Given the description of an element on the screen output the (x, y) to click on. 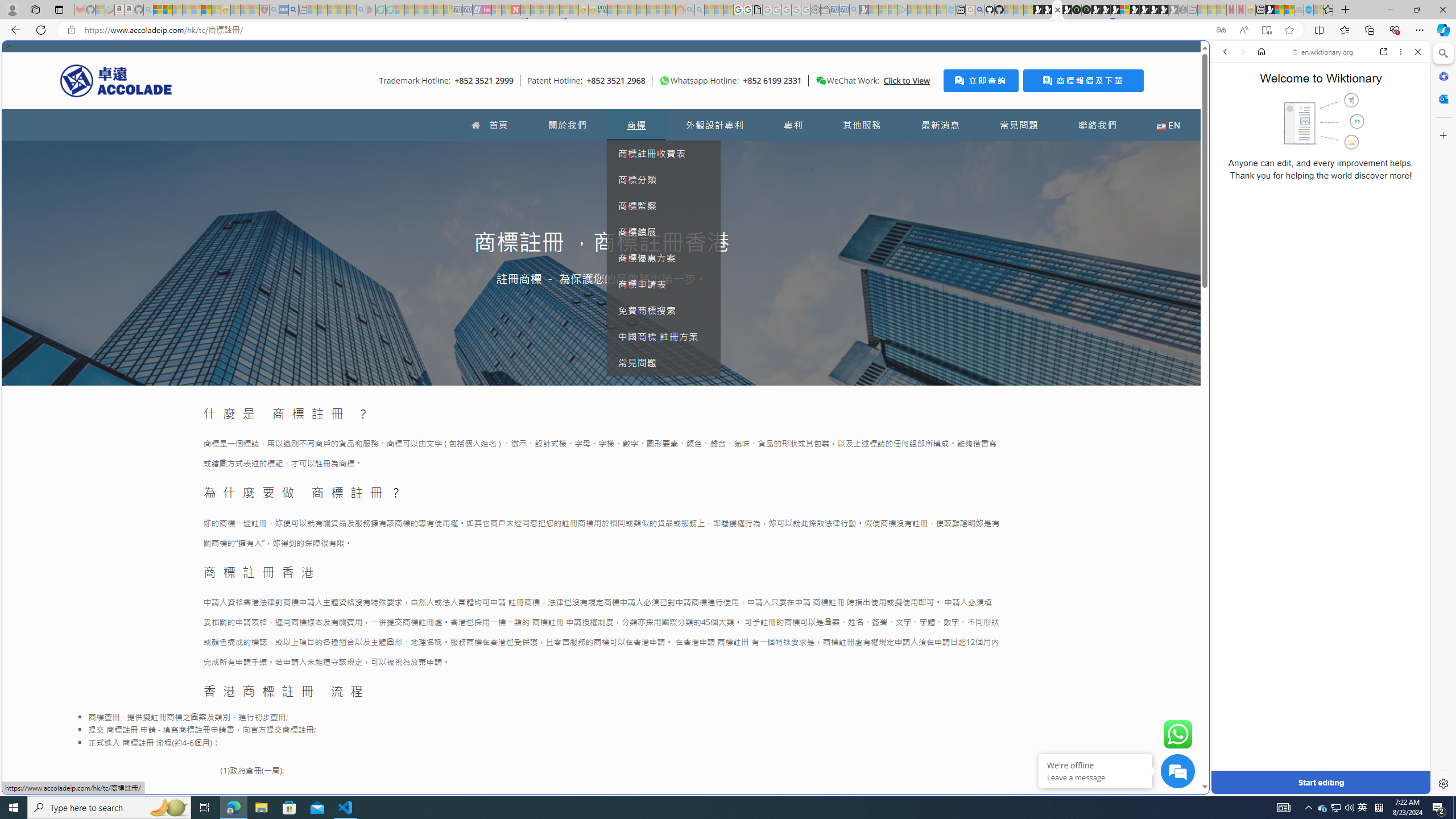
WEB   (1230, 130)
Show translate options (1220, 29)
Search Filter, Search Tools (1350, 129)
Local - MSN - Sleeping (254, 9)
The Weather Channel - MSN - Sleeping (177, 9)
Wiktionary (1315, 380)
Cheap Car Rentals - Save70.com - Sleeping (844, 9)
Earth has six continents not seven, radical new study claims (1288, 9)
